Given the description of an element on the screen output the (x, y) to click on. 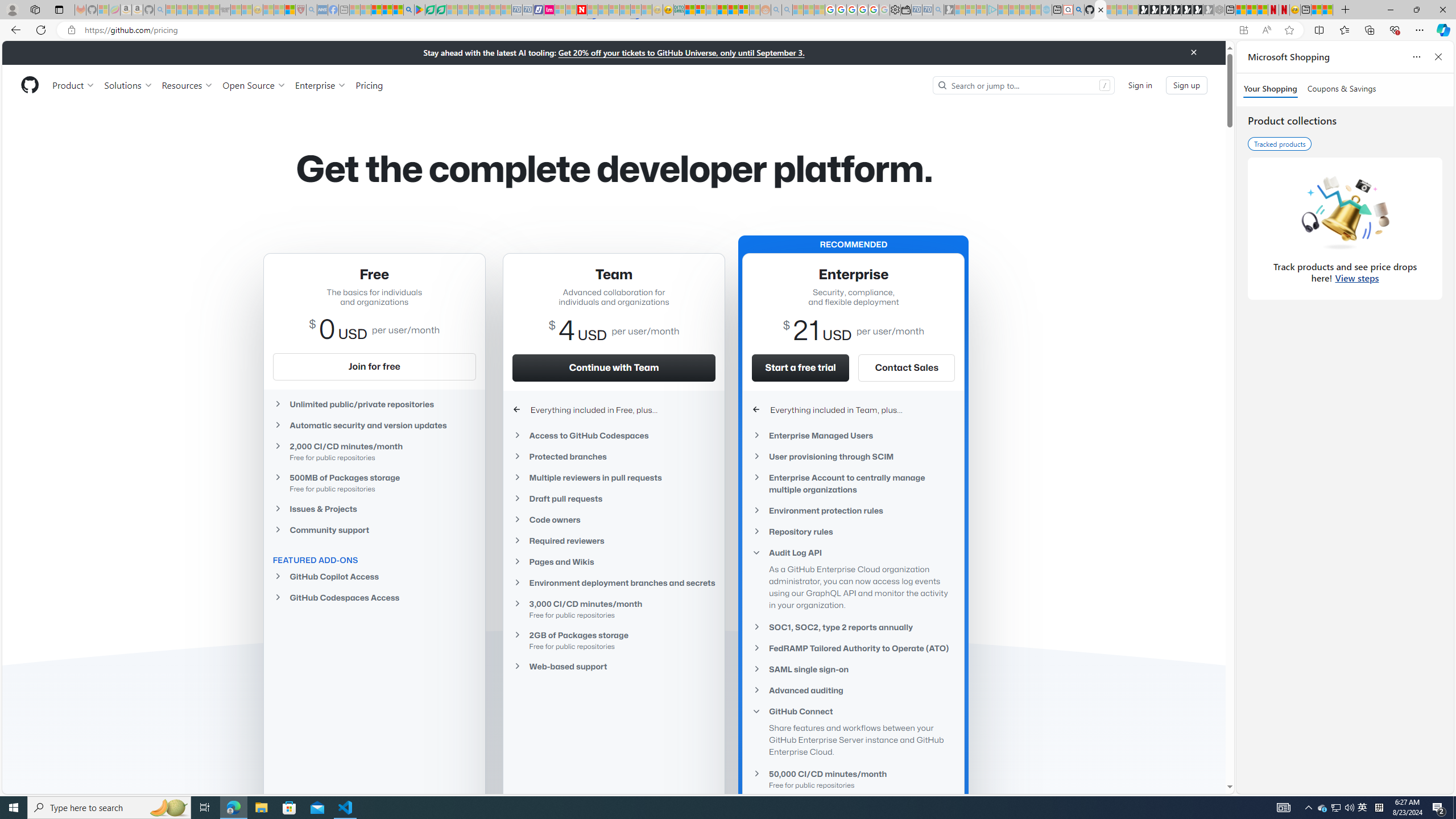
50,000 CI/CD minutes/month Free for public repositories (853, 779)
3,000 CI/CD minutes/month Free for public repositories (614, 608)
Required reviewers (614, 540)
Contact Sales (906, 367)
SAML single sign-on (853, 668)
FedRAMP Tailored Authority to Operate (ATO) (853, 648)
Sign up (1186, 84)
